Given the description of an element on the screen output the (x, y) to click on. 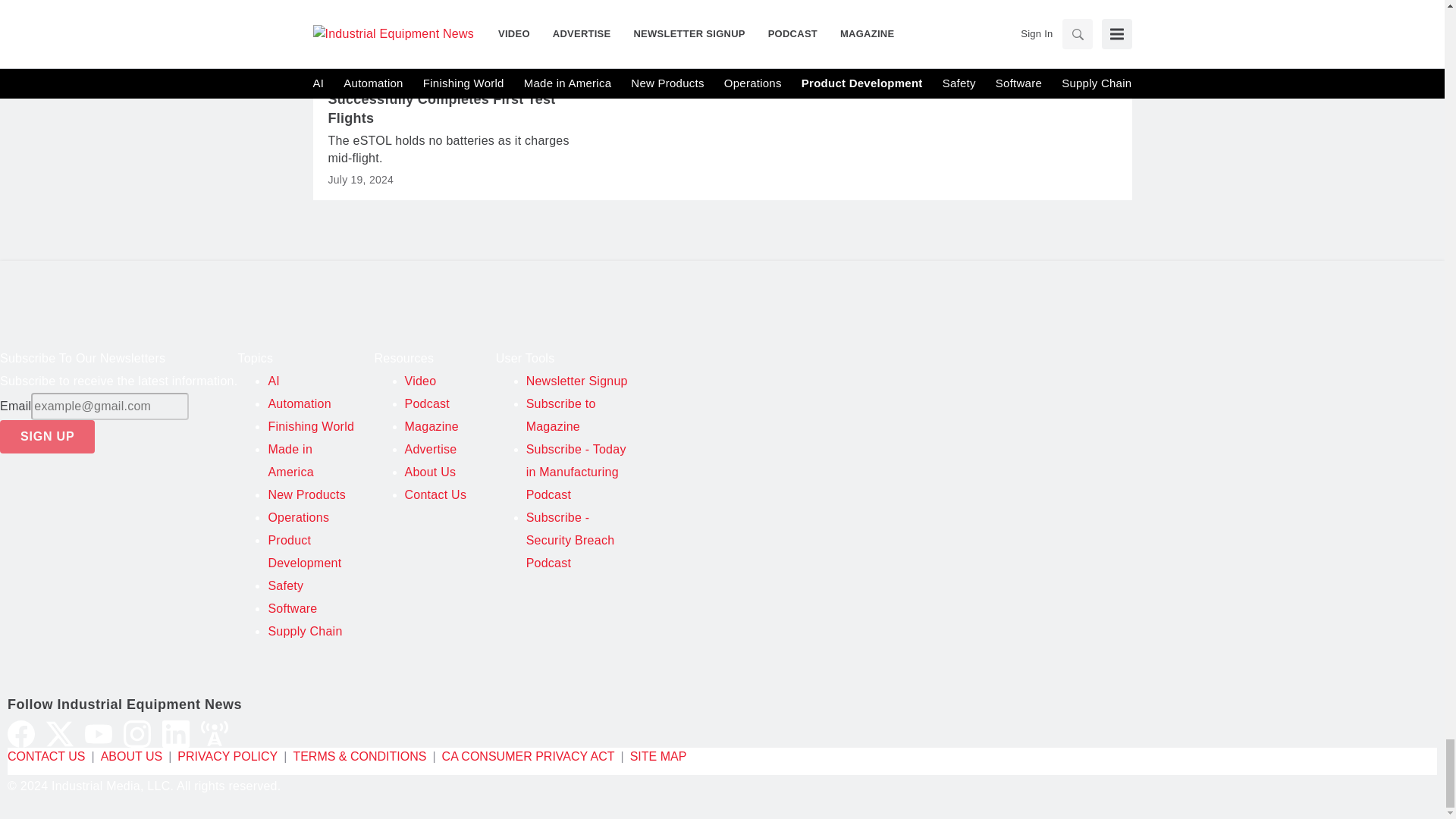
Twitter X icon (60, 733)
Facebook icon (20, 733)
Instagram icon (137, 733)
LinkedIn icon (175, 733)
YouTube icon (98, 733)
